Given the description of an element on the screen output the (x, y) to click on. 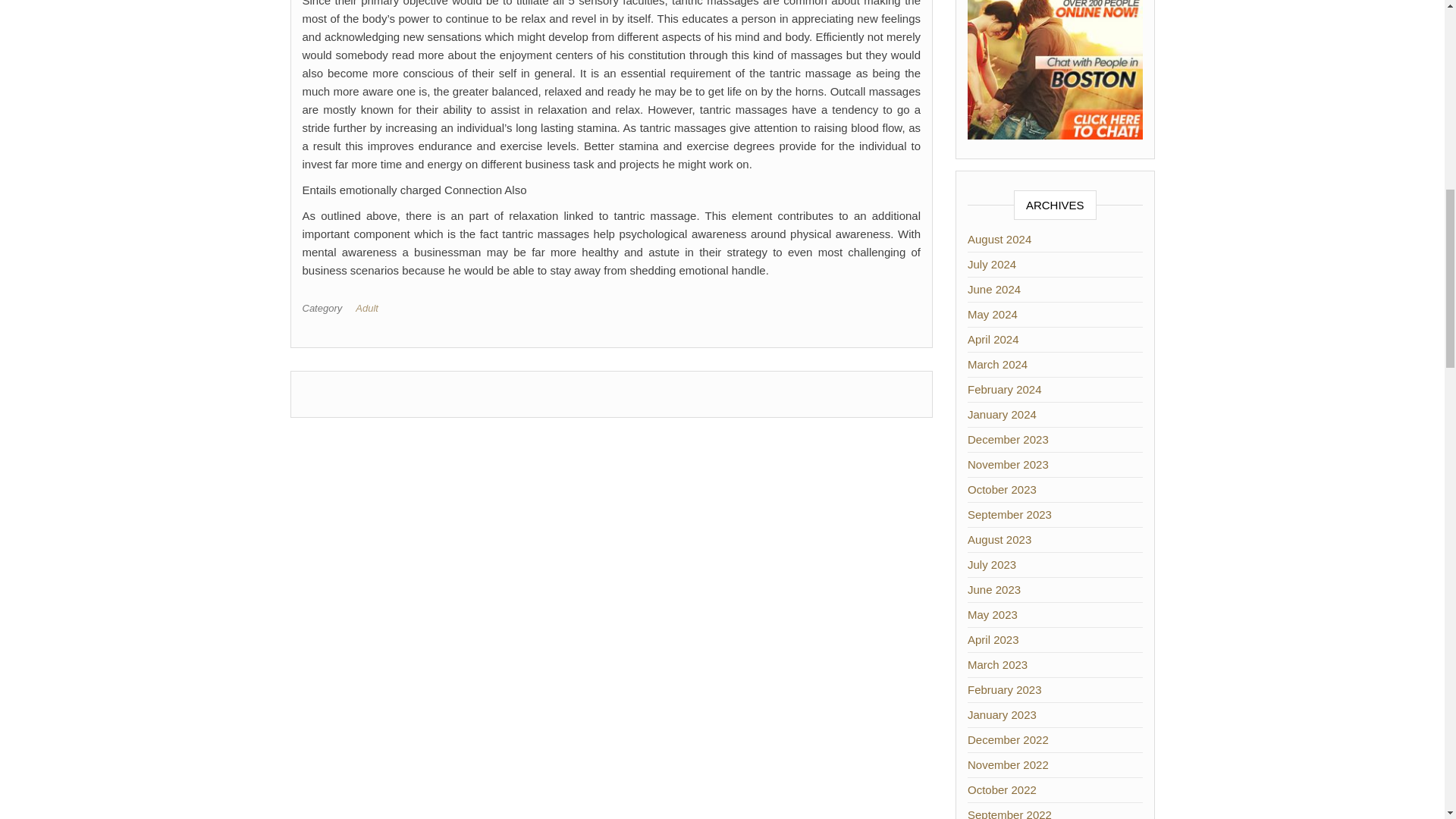
April 2023 (993, 639)
October 2022 (1002, 789)
March 2024 (997, 364)
July 2024 (992, 264)
January 2023 (1002, 714)
October 2023 (1002, 489)
January 2024 (1002, 413)
November 2022 (1008, 764)
Adult (369, 307)
December 2023 (1008, 439)
